Given the description of an element on the screen output the (x, y) to click on. 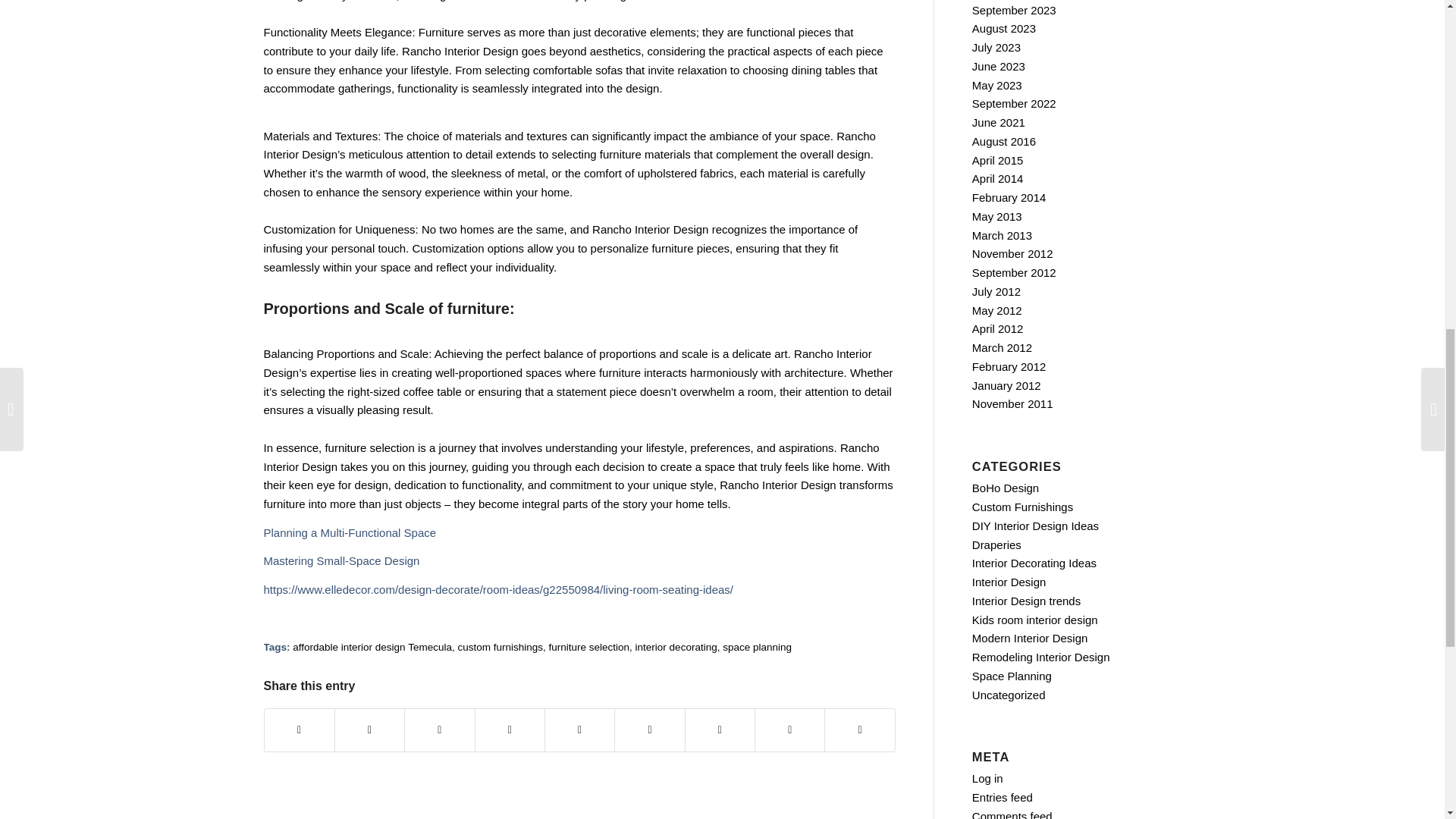
Mastering Small-Space Design (341, 560)
custom furnishings (500, 646)
Planning a Multi-Functional Space (349, 532)
interior decorating (675, 646)
space planning (757, 646)
furniture selection (589, 646)
affordable interior design Temecula (371, 646)
